Given the description of an element on the screen output the (x, y) to click on. 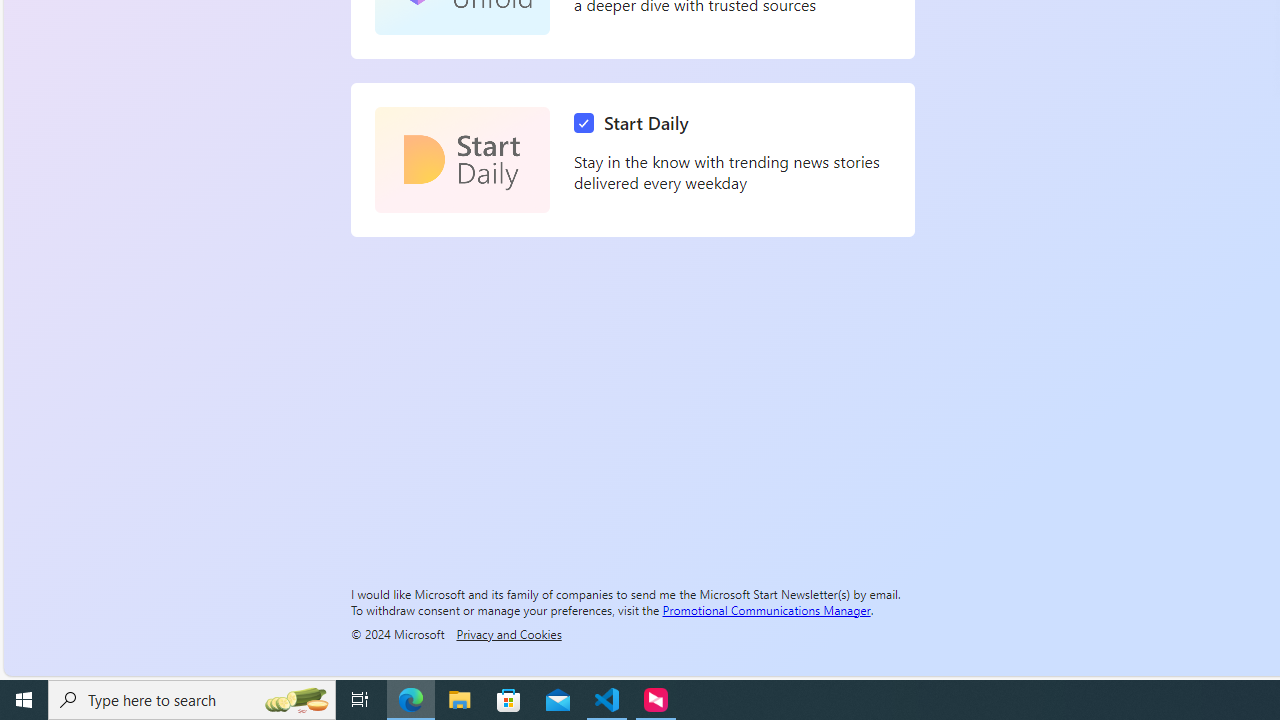
Promotional Communications Manager (765, 609)
Start Daily (635, 123)
Start Daily (461, 160)
Privacy and Cookies (508, 633)
